Given the description of an element on the screen output the (x, y) to click on. 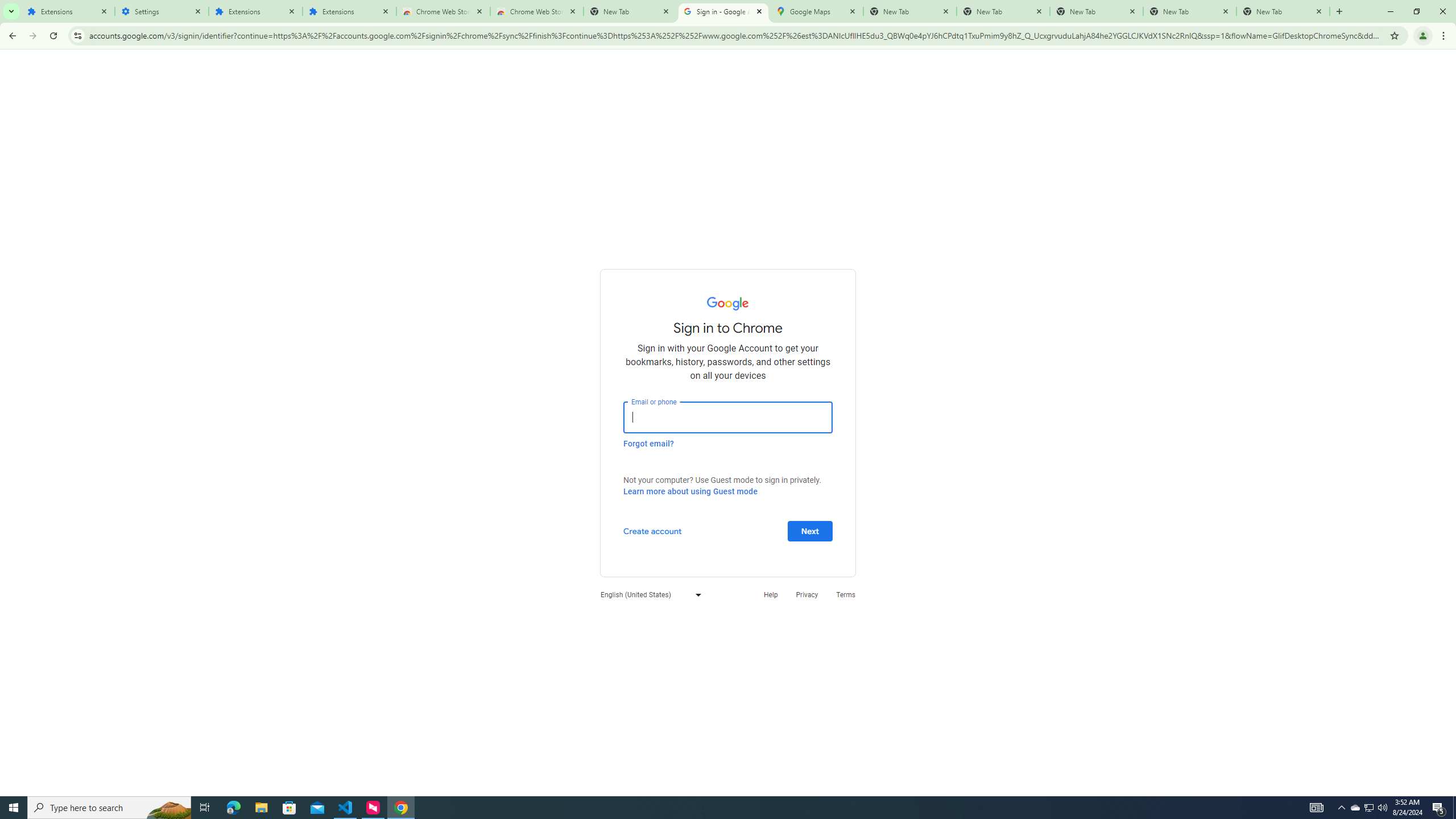
Extensions (349, 11)
English (United States) (647, 594)
Chrome Web Store (443, 11)
Email or phone (727, 417)
Forgot email? (648, 443)
